Given the description of an element on the screen output the (x, y) to click on. 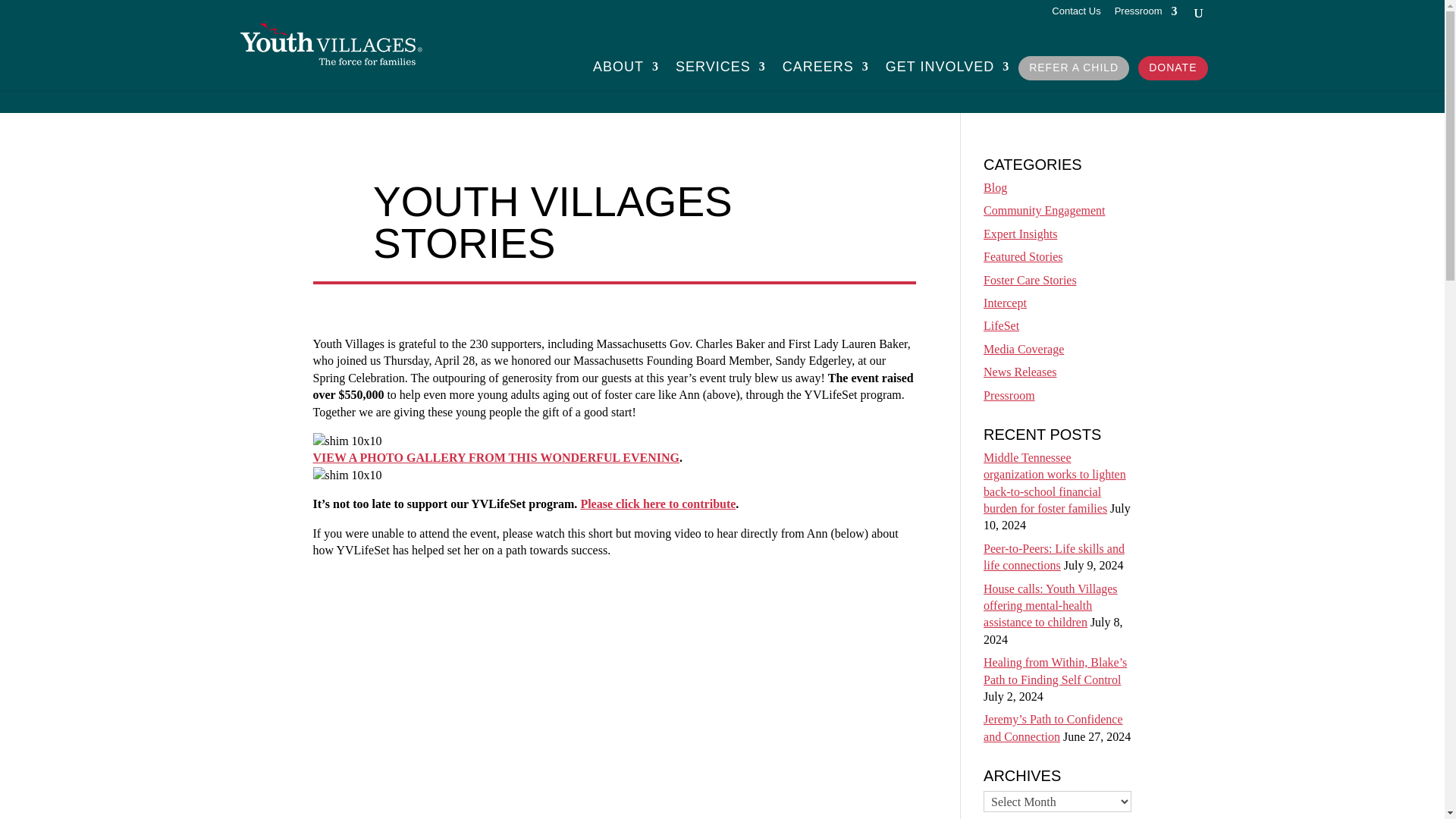
GET INVOLVED (947, 71)
ABOUT (625, 71)
SERVICES (720, 71)
Contact Us (1075, 14)
CAREERS (826, 71)
Pressroom (1146, 14)
